Given the description of an element on the screen output the (x, y) to click on. 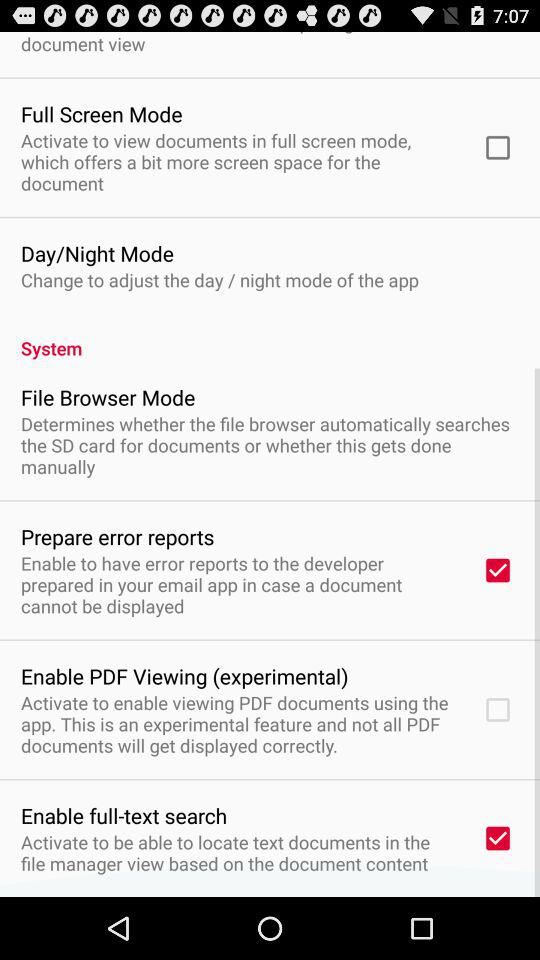
click app below activate to enable app (124, 815)
